Given the description of an element on the screen output the (x, y) to click on. 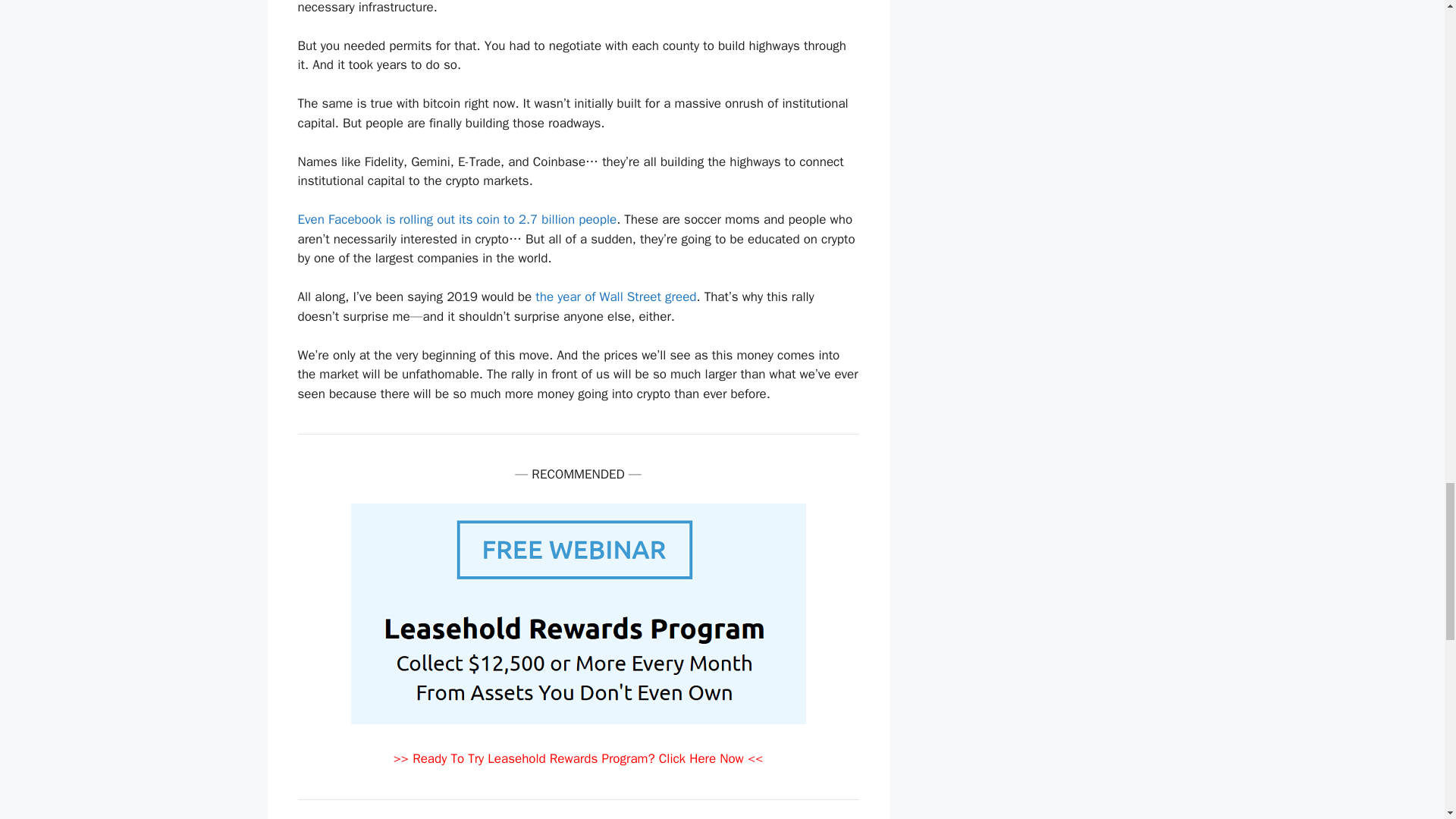
the year of Wall Street greed (615, 296)
Even Facebook is rolling out its coin to 2.7 billion people (456, 219)
